Given the description of an element on the screen output the (x, y) to click on. 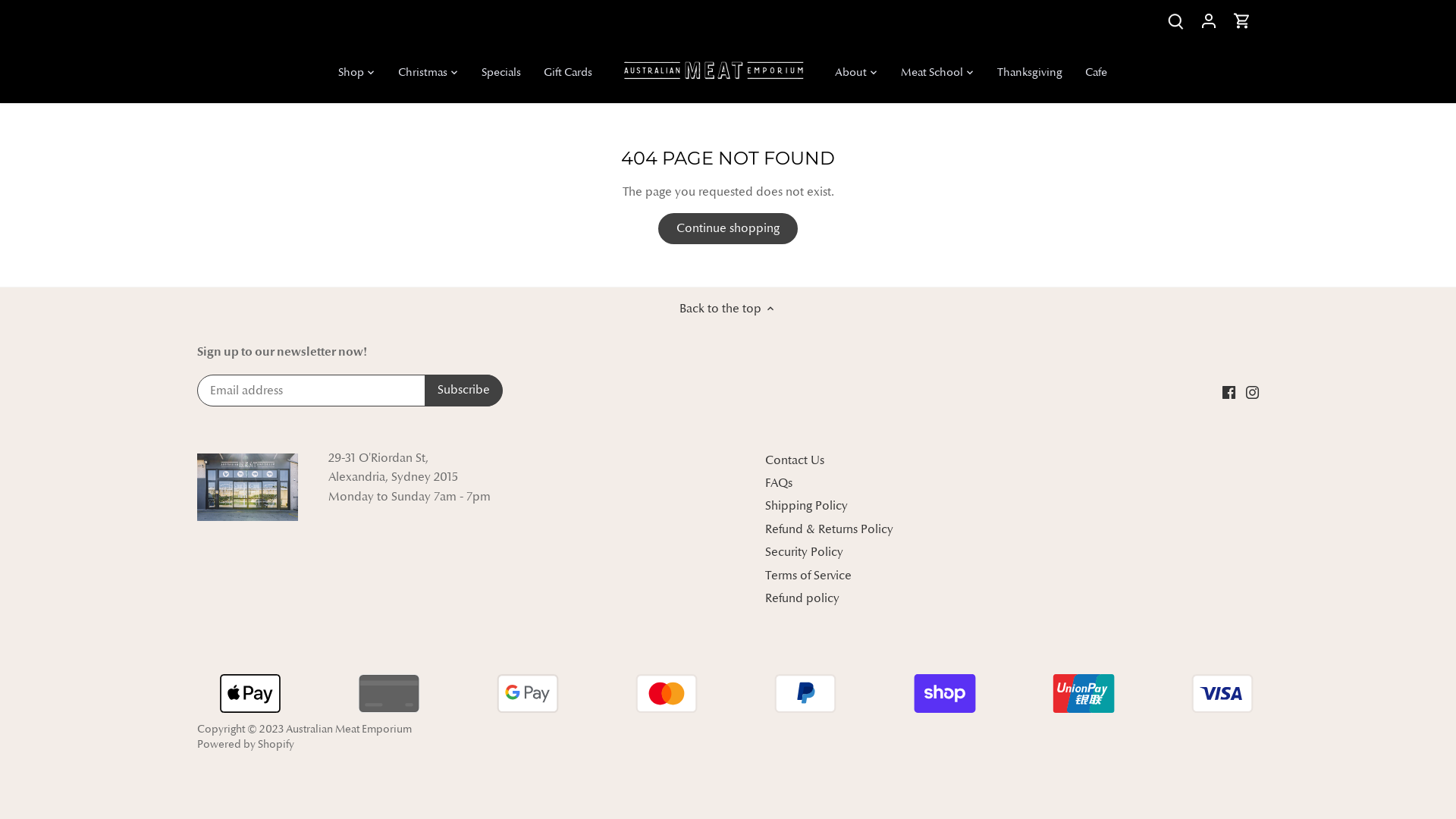
Powered by Shopify Element type: text (245, 743)
Specials Element type: text (501, 72)
Meat School Element type: text (930, 72)
Contact Us Element type: text (794, 460)
Cafe Element type: text (1095, 72)
Facebook Element type: text (1228, 390)
Australian Meat Emporium Element type: text (348, 728)
Go to cart Element type: hover (1242, 20)
Refund policy Element type: text (802, 598)
Security Policy Element type: text (804, 552)
Shipping Policy Element type: text (806, 506)
Christmas Element type: text (422, 72)
Refund & Returns Policy Element type: text (829, 529)
Instagram Element type: text (1251, 390)
Terms of Service Element type: text (808, 575)
Back to the top Element type: text (727, 308)
Thanksgiving Element type: text (1029, 72)
FAQs Element type: text (778, 483)
Gift Cards Element type: text (567, 72)
Continue shopping Element type: text (728, 228)
Subscribe Element type: text (463, 390)
Shop Element type: text (356, 72)
About Element type: text (850, 72)
